Given the description of an element on the screen output the (x, y) to click on. 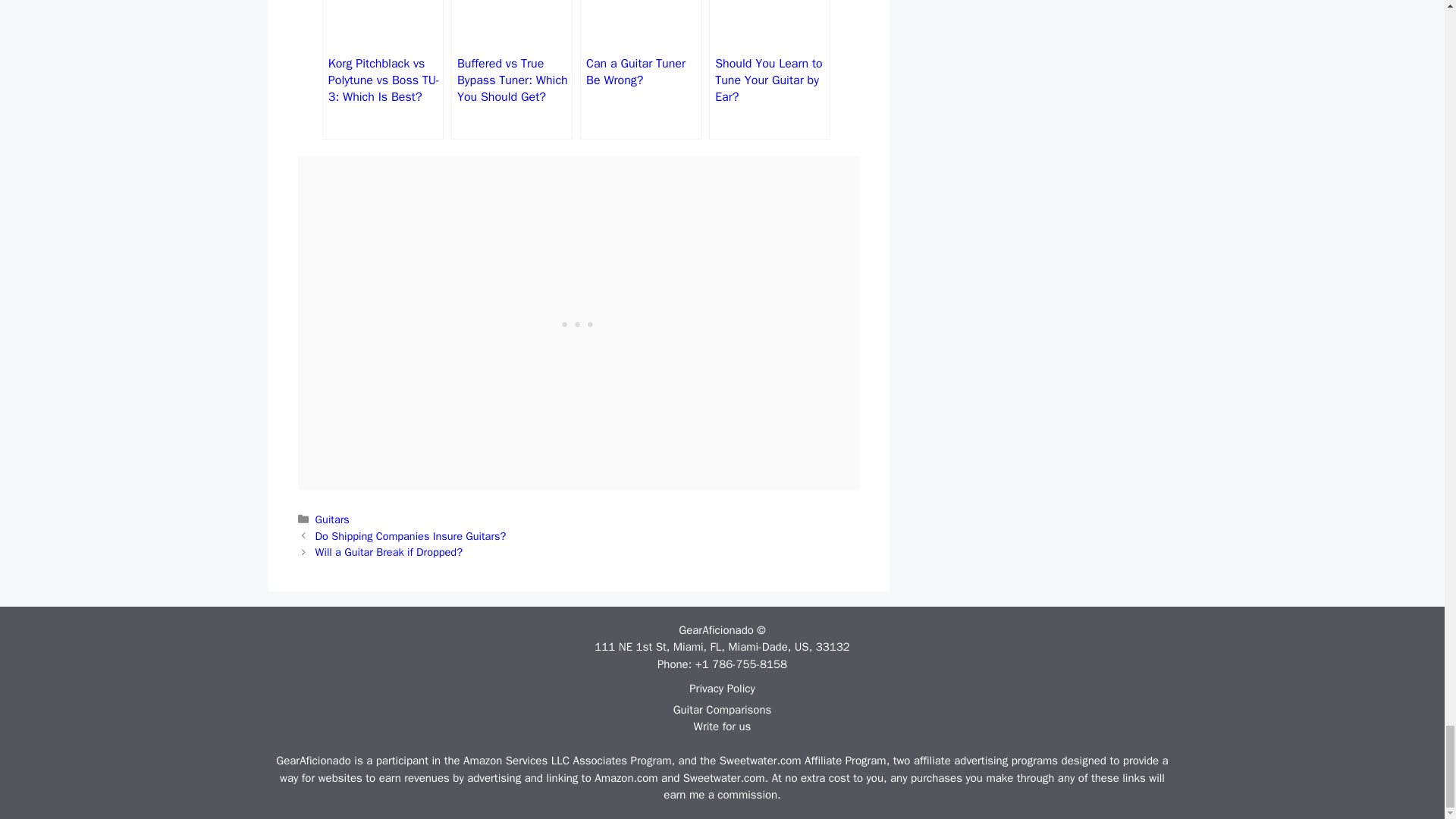
Guitars (332, 519)
Do Shipping Companies Insure Guitars? (410, 535)
Will a Guitar Break if Dropped? (389, 551)
